Given the description of an element on the screen output the (x, y) to click on. 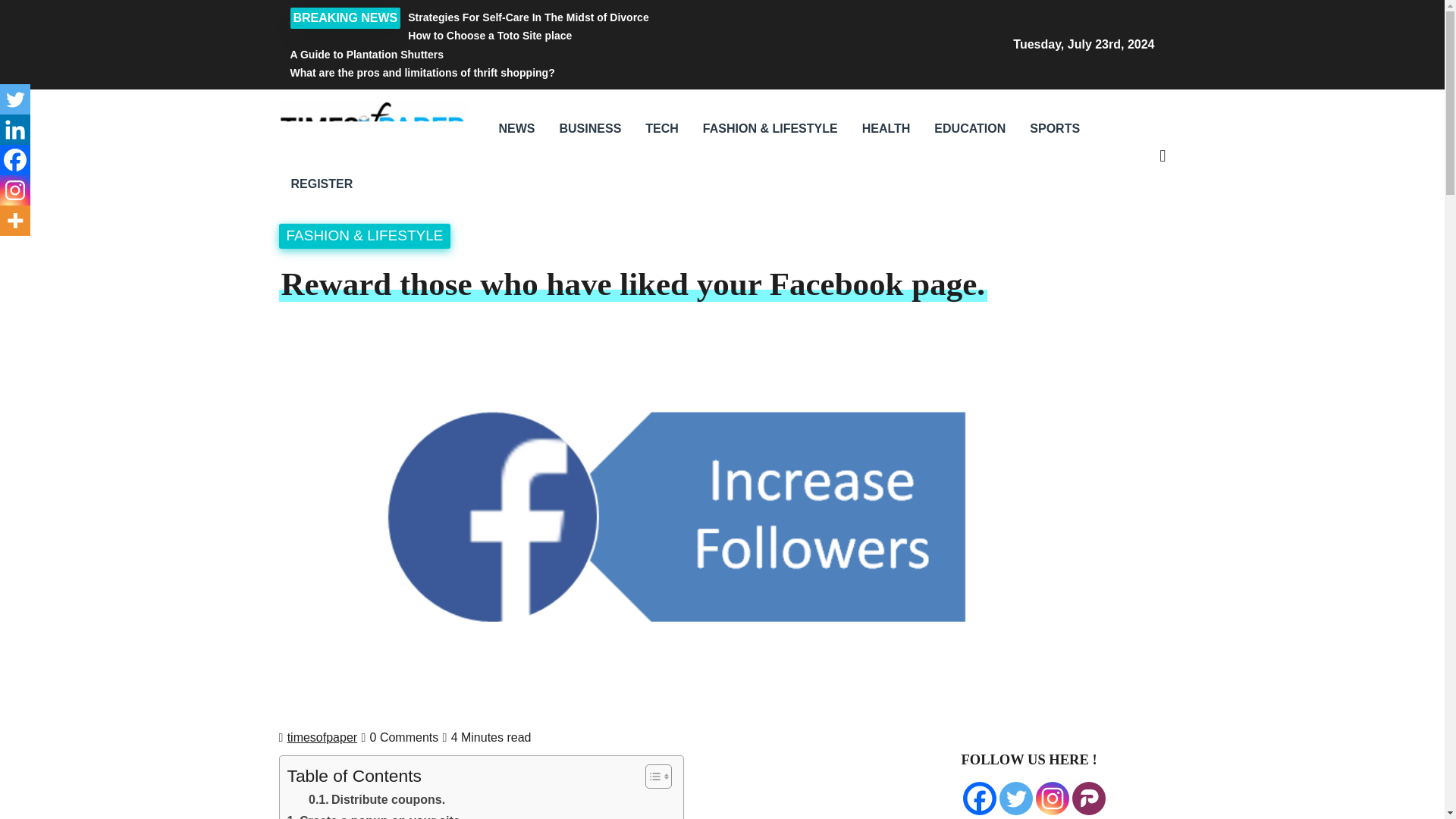
Instagram (15, 190)
What are the pros and limitations of thrift shopping? (574, 72)
Twitter (15, 99)
Linkedin (15, 129)
timesofpaper (322, 737)
Facebook (15, 159)
Strategies For Self-Care In The Midst of Divorce (574, 17)
EDUCATION (969, 128)
BUSINESS (590, 128)
SPORTS (1054, 128)
Create a popup on your site. (374, 815)
Distribute coupons. (376, 799)
How to Choose a Toto Site place (574, 35)
Twitter (1015, 798)
Search (1045, 237)
